Given the description of an element on the screen output the (x, y) to click on. 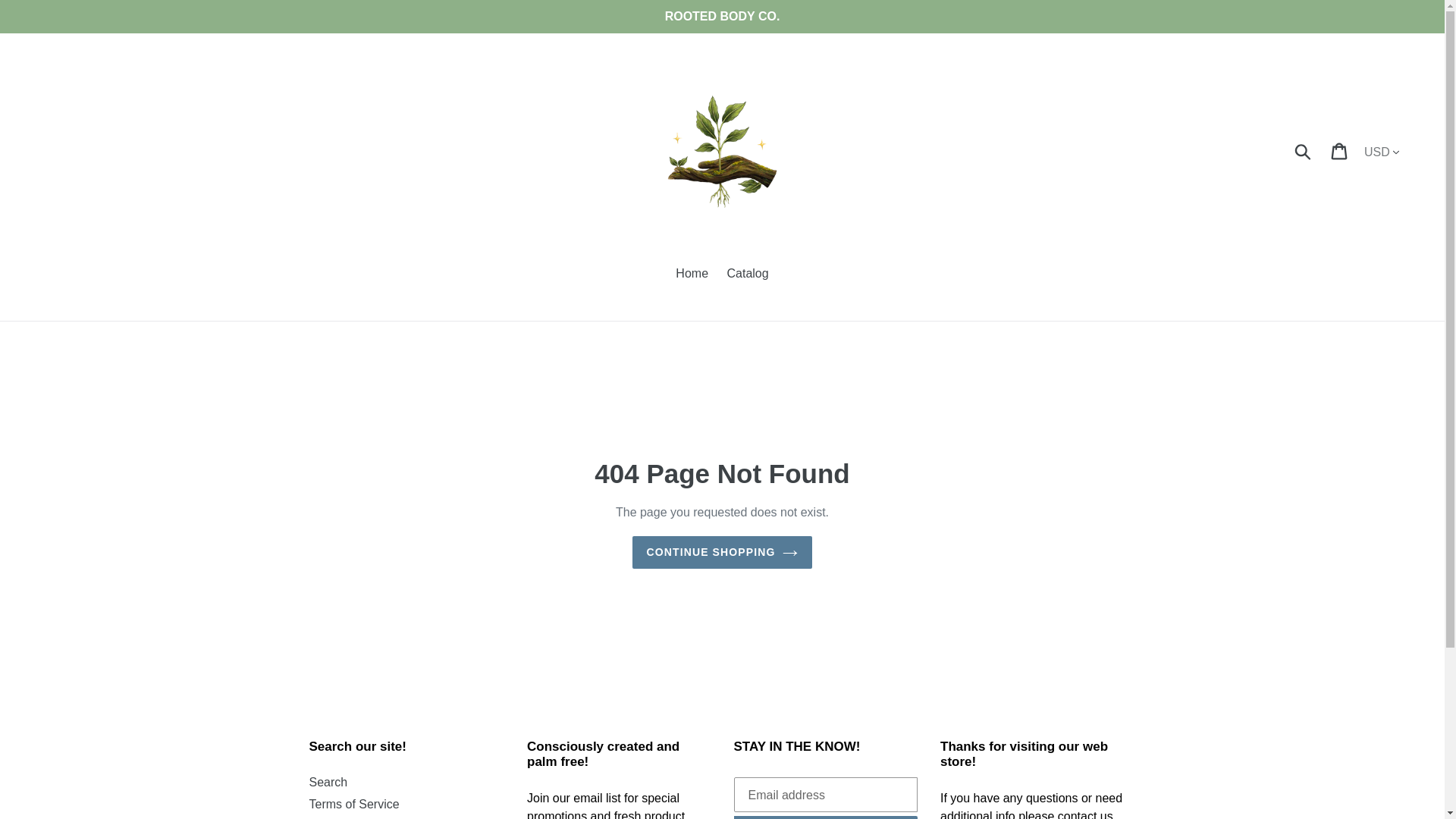
Terms of Service (353, 803)
SUBSCRIBE (825, 817)
CONTINUE SHOPPING (721, 552)
Catalog (747, 274)
Home (692, 274)
Search (327, 781)
Submit (1303, 150)
Cart (1340, 150)
